Given the description of an element on the screen output the (x, y) to click on. 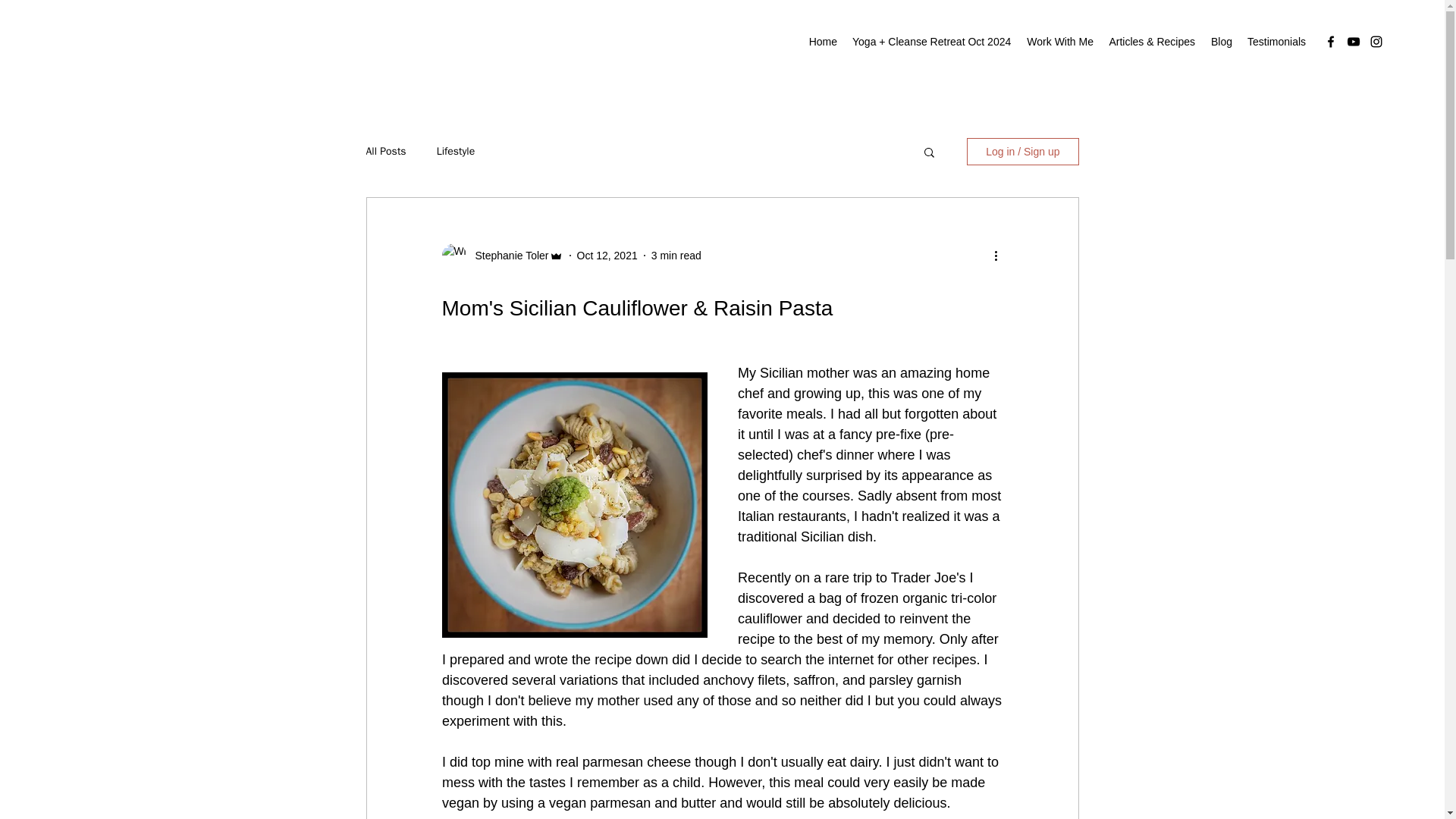
Oct 12, 2021 (606, 254)
3 min read (675, 254)
All Posts (385, 151)
Work With Me (1058, 41)
Blog (1221, 41)
Lifestyle (456, 151)
Stephanie Toler (506, 254)
Home (822, 41)
Testimonials (1275, 41)
